Given the description of an element on the screen output the (x, y) to click on. 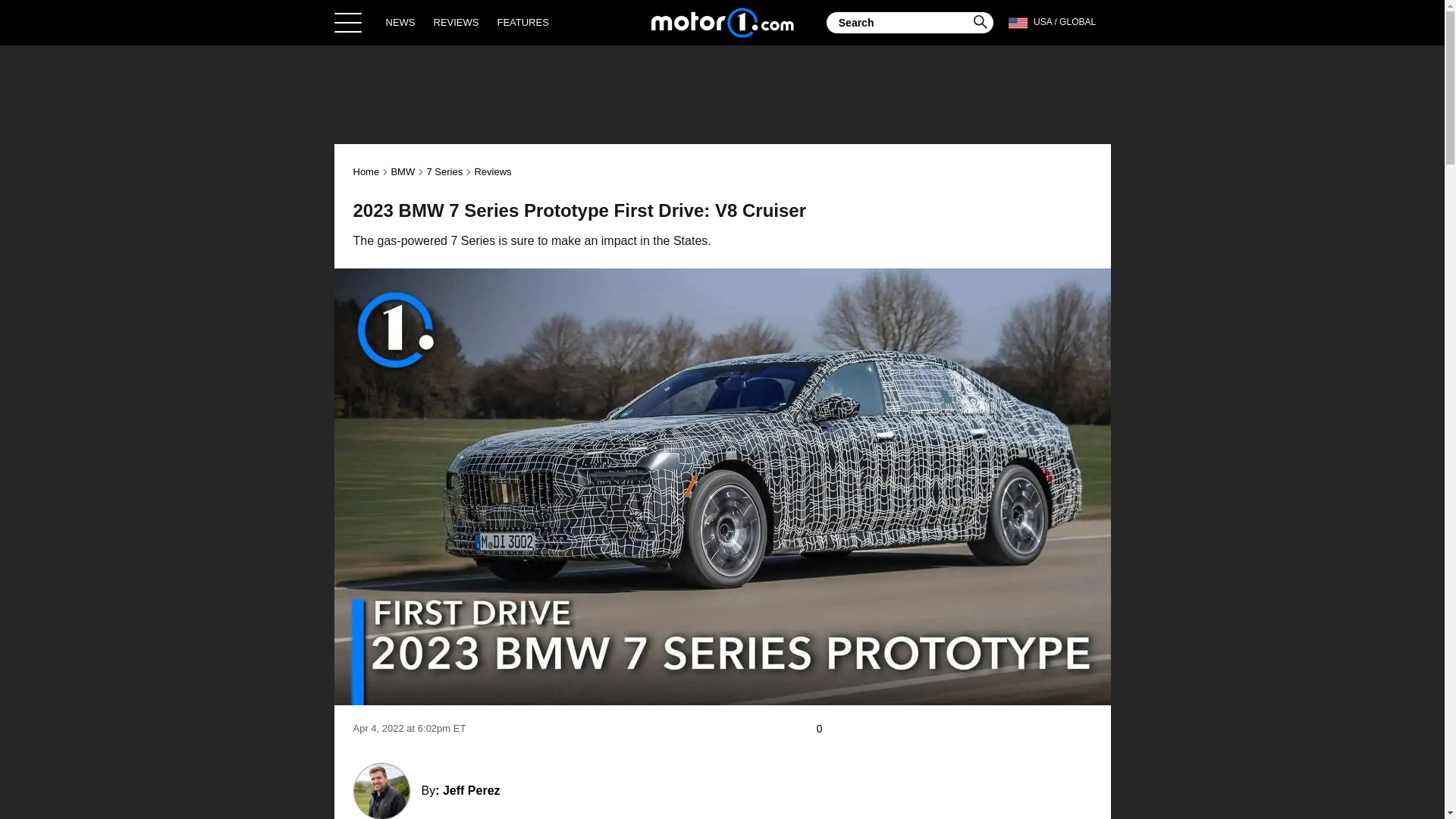
Home (721, 22)
Reviews (492, 171)
NEWS (399, 22)
Home (366, 171)
BMW (402, 171)
0 (826, 728)
Jeff Perez (471, 789)
FEATURES (522, 22)
REVIEWS (456, 22)
7 Series (444, 171)
